Given the description of an element on the screen output the (x, y) to click on. 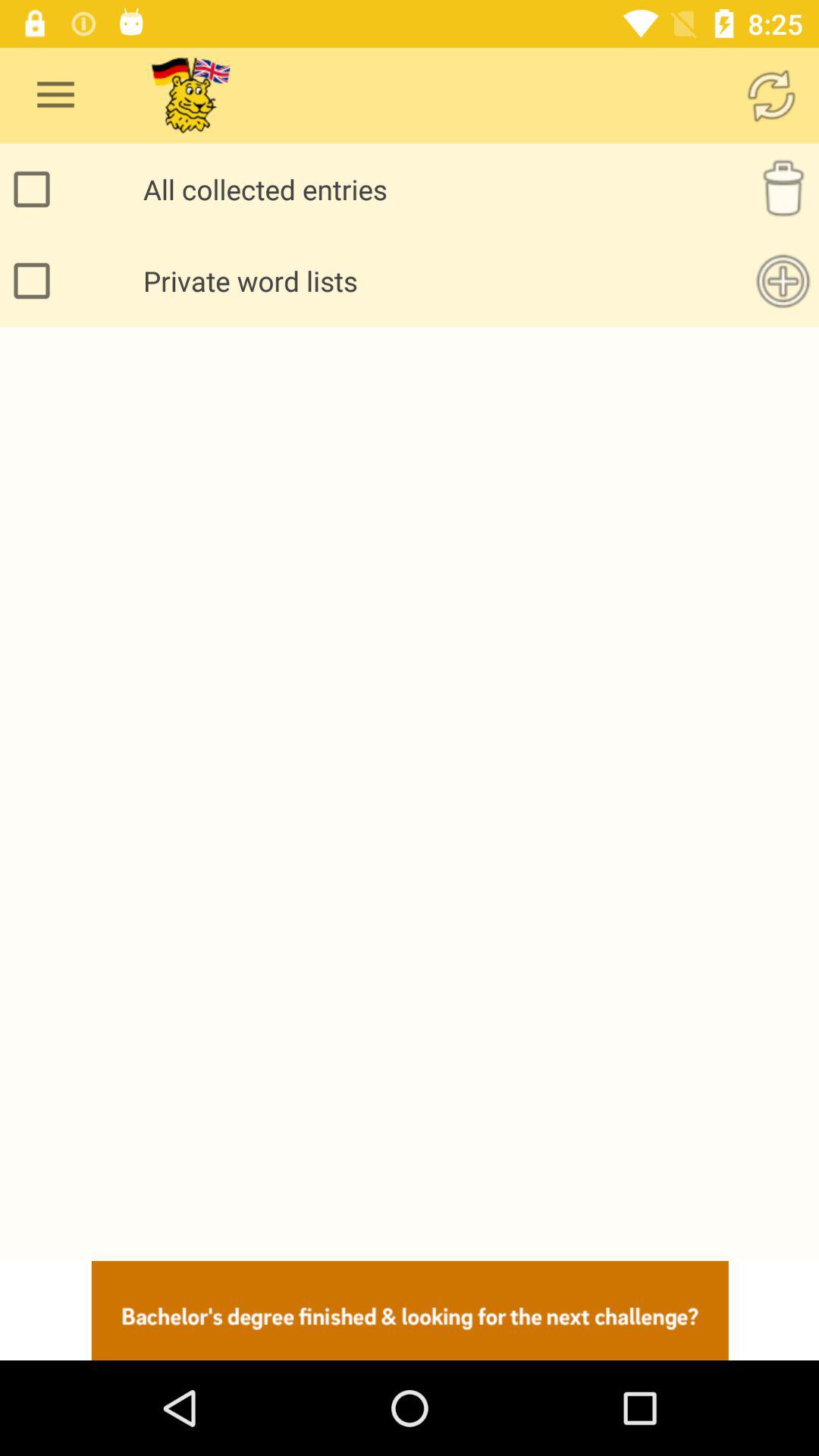
refresh (771, 95)
